Given the description of an element on the screen output the (x, y) to click on. 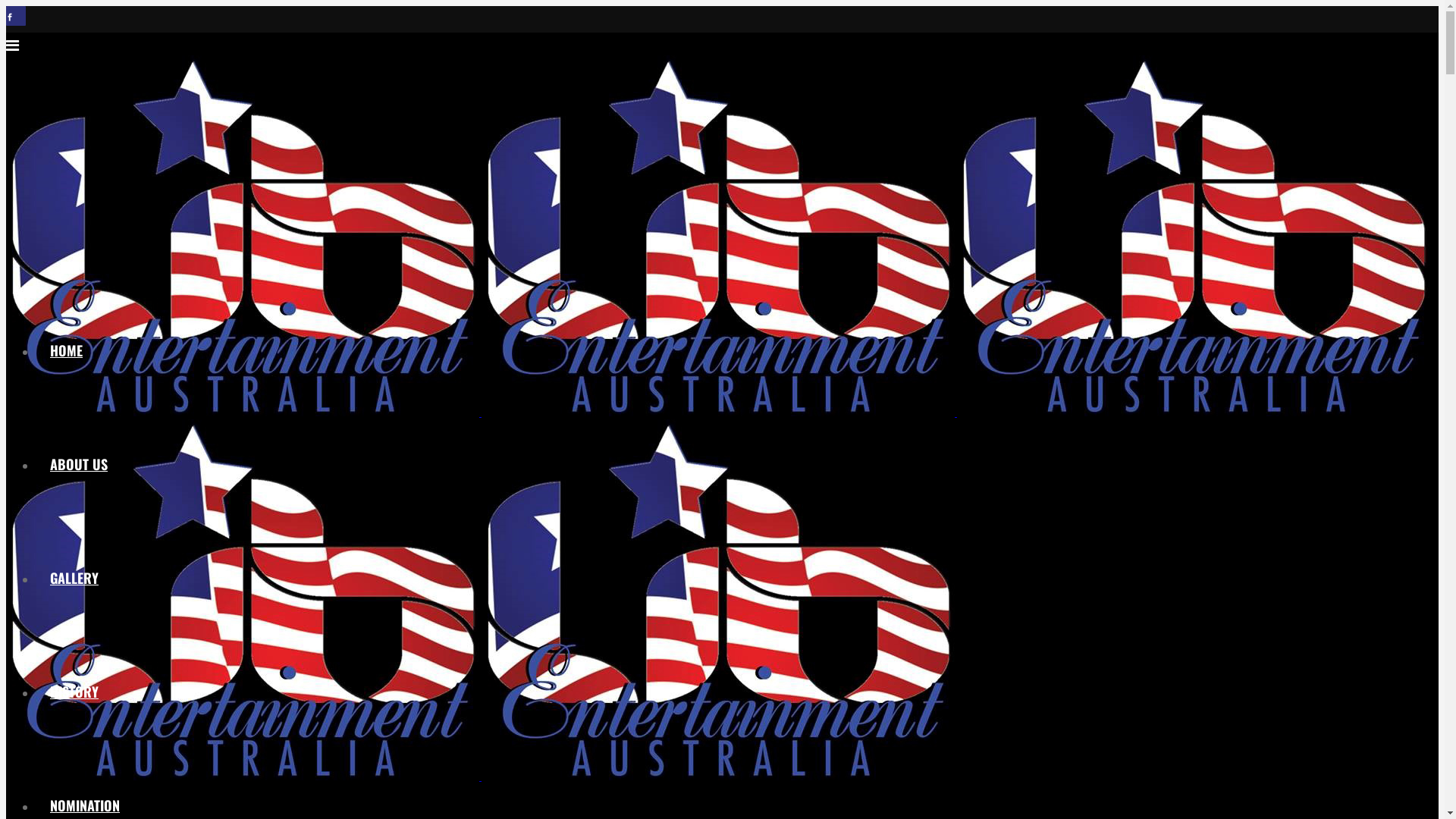
GALLERY Element type: text (74, 577)
HOME Element type: text (66, 350)
ABOUT US Element type: text (78, 463)
NOMINATION Element type: text (84, 805)
HISTORY Element type: text (74, 691)
